Given the description of an element on the screen output the (x, y) to click on. 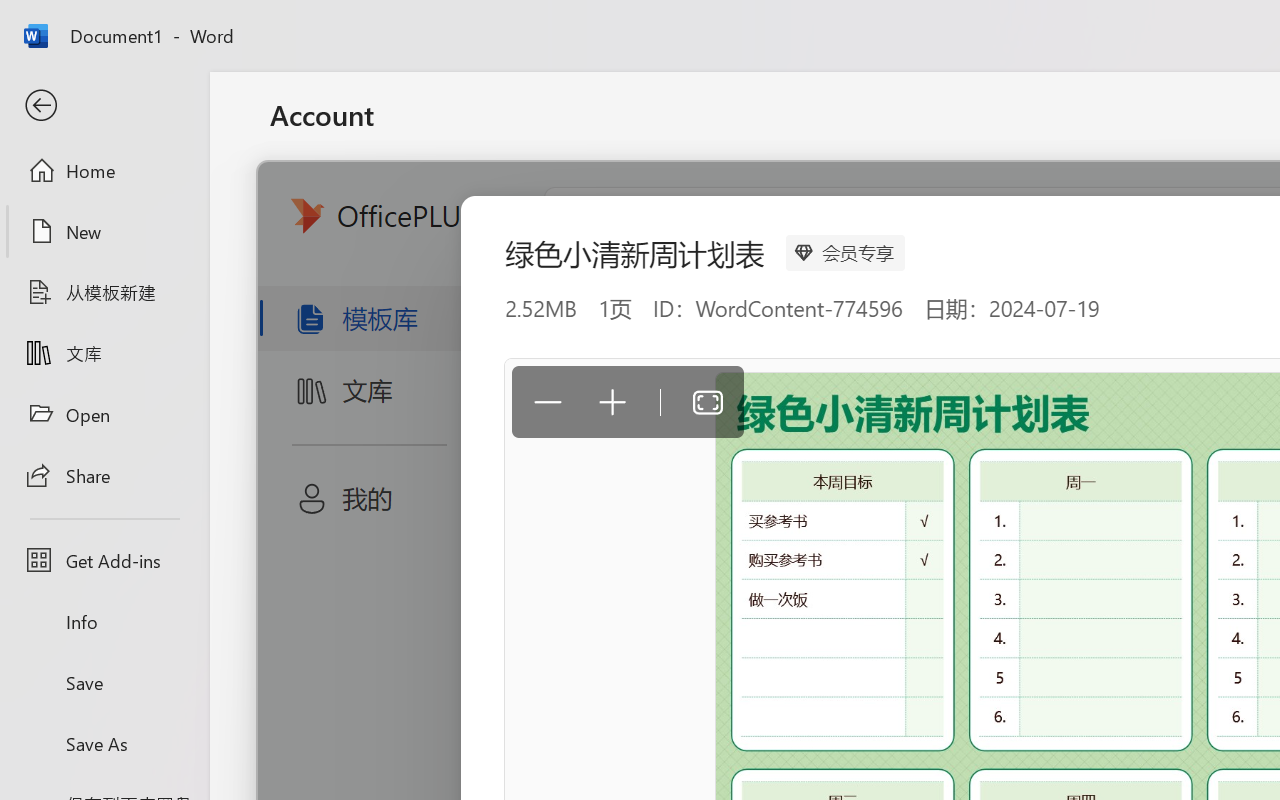
Excel (1001, 444)
Sign In (337, 468)
Switch License (1020, 492)
PowerPoint (1039, 444)
OneNote (1078, 444)
Manage Settings (354, 212)
Back (104, 106)
